Given the description of an element on the screen output the (x, y) to click on. 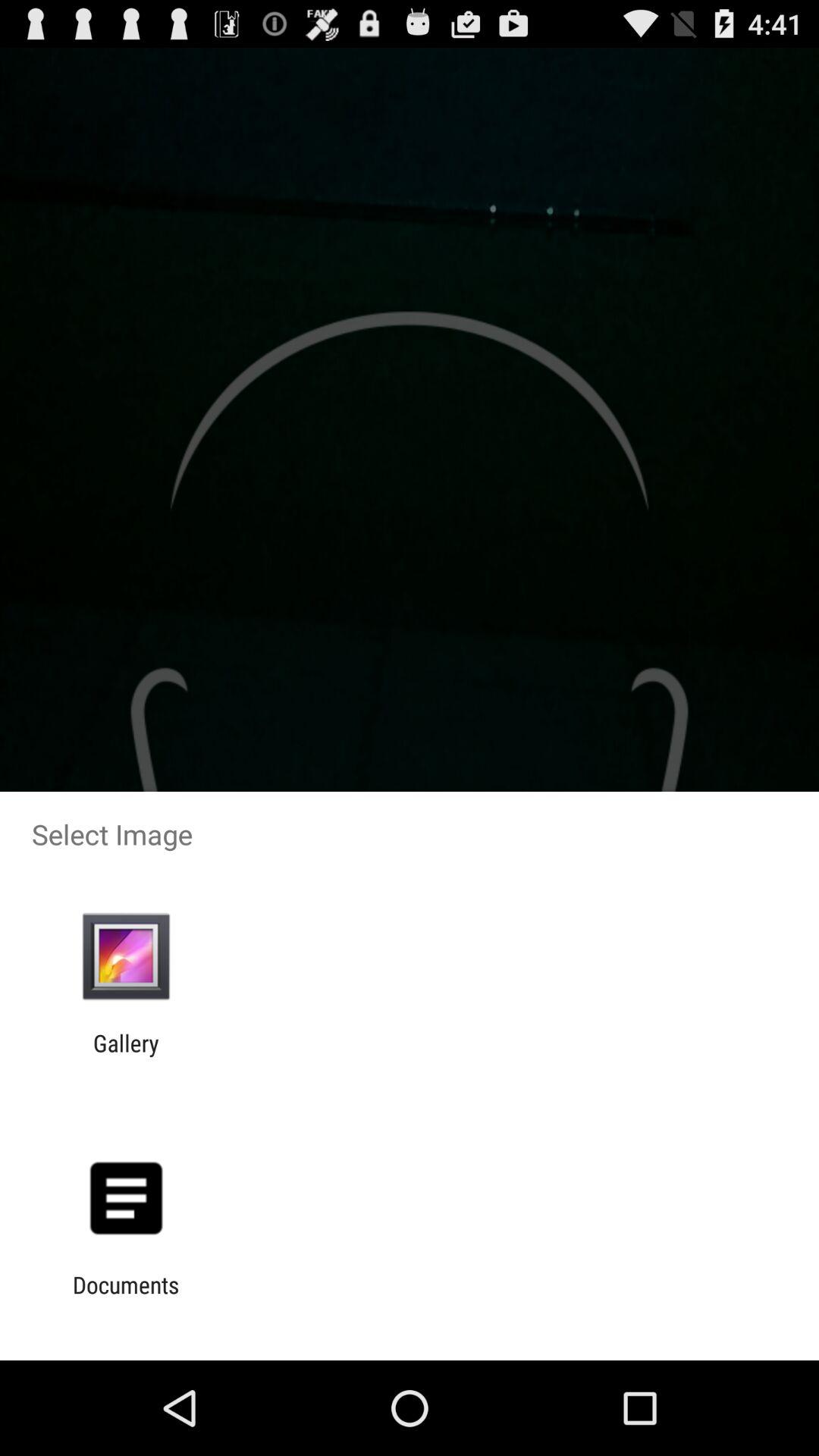
click documents item (125, 1298)
